Given the description of an element on the screen output the (x, y) to click on. 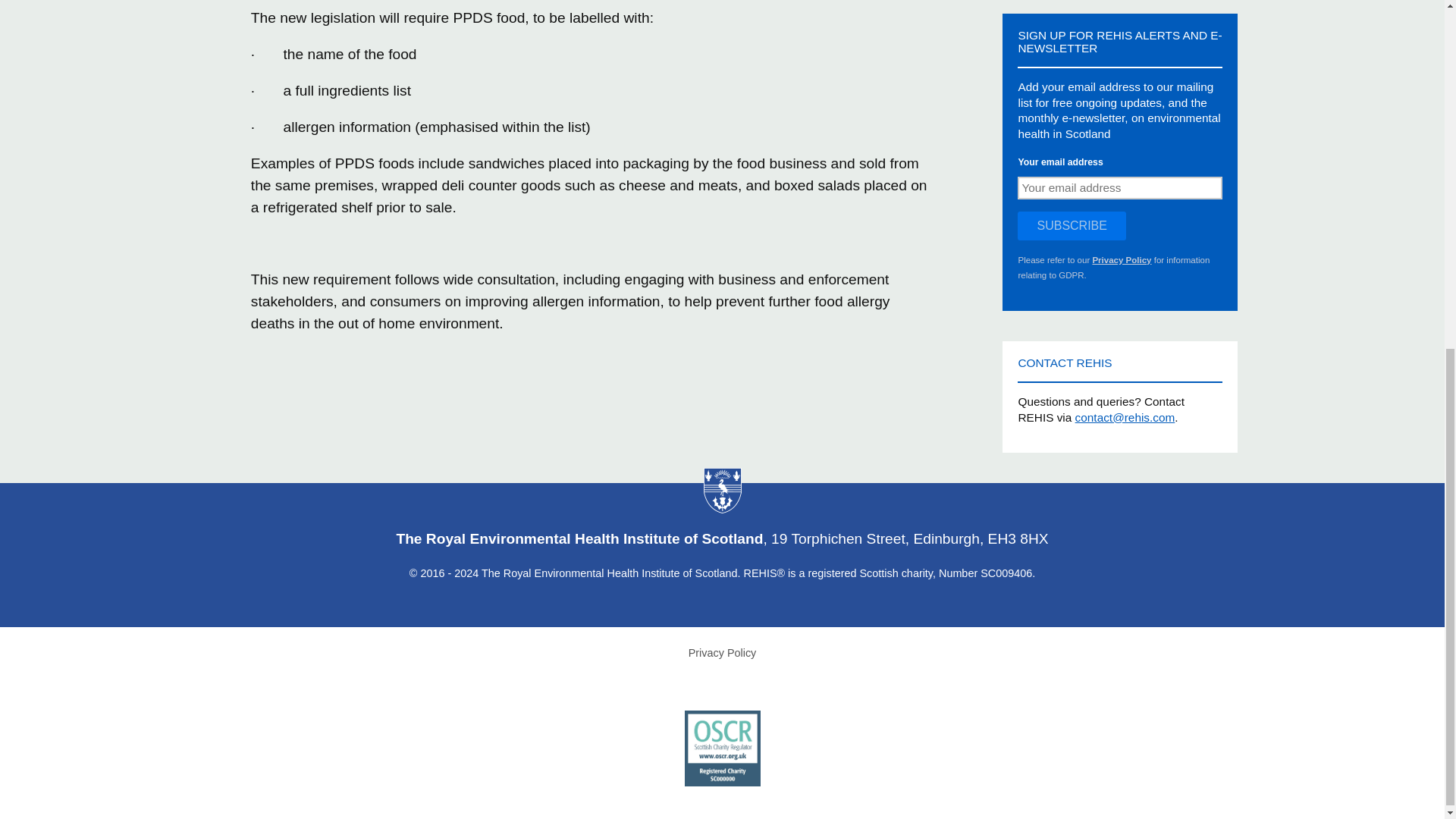
Subscribe (1071, 225)
